Given the description of an element on the screen output the (x, y) to click on. 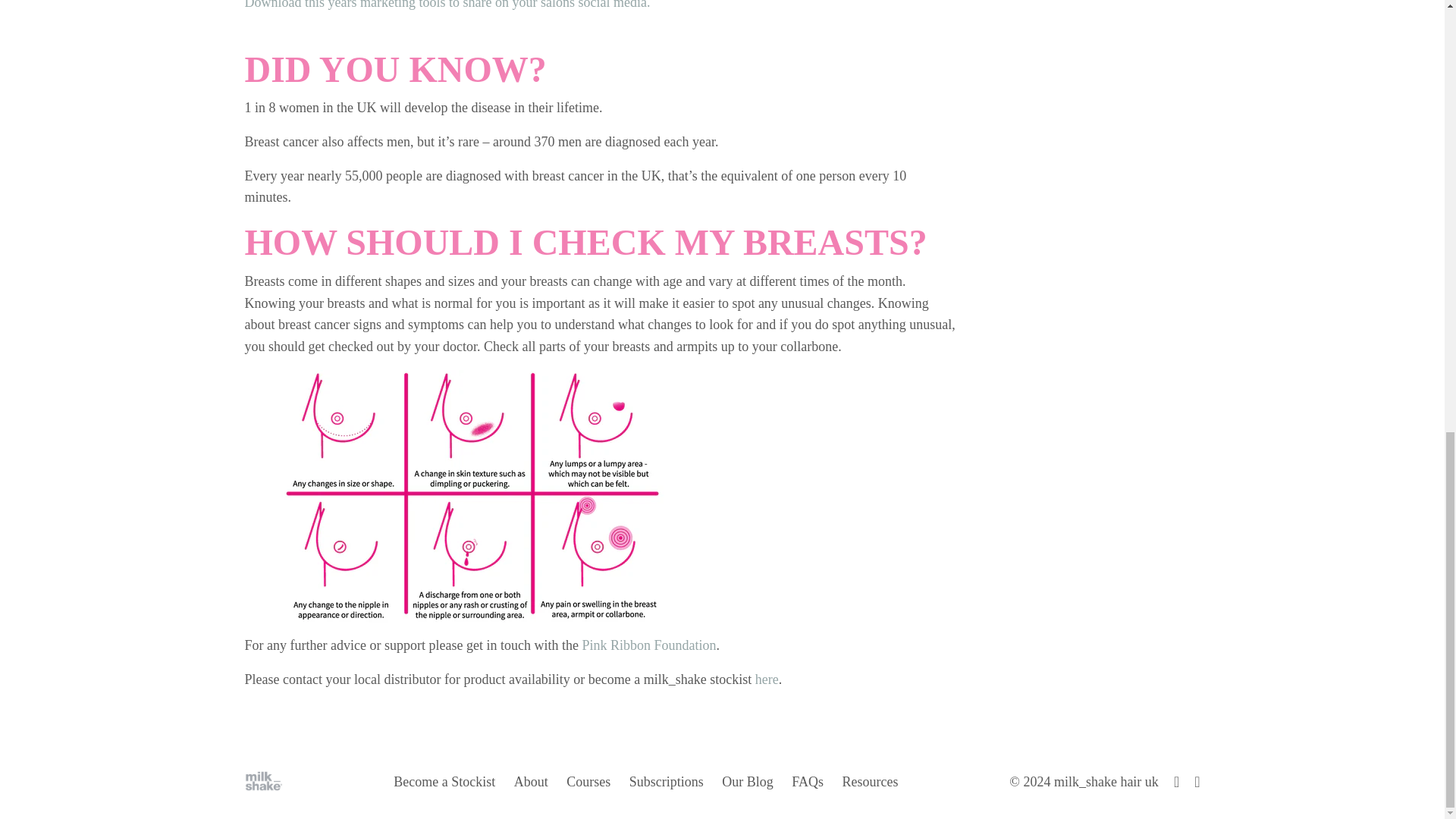
Pink Ribbon Foundation (648, 645)
here (766, 679)
